Given the description of an element on the screen output the (x, y) to click on. 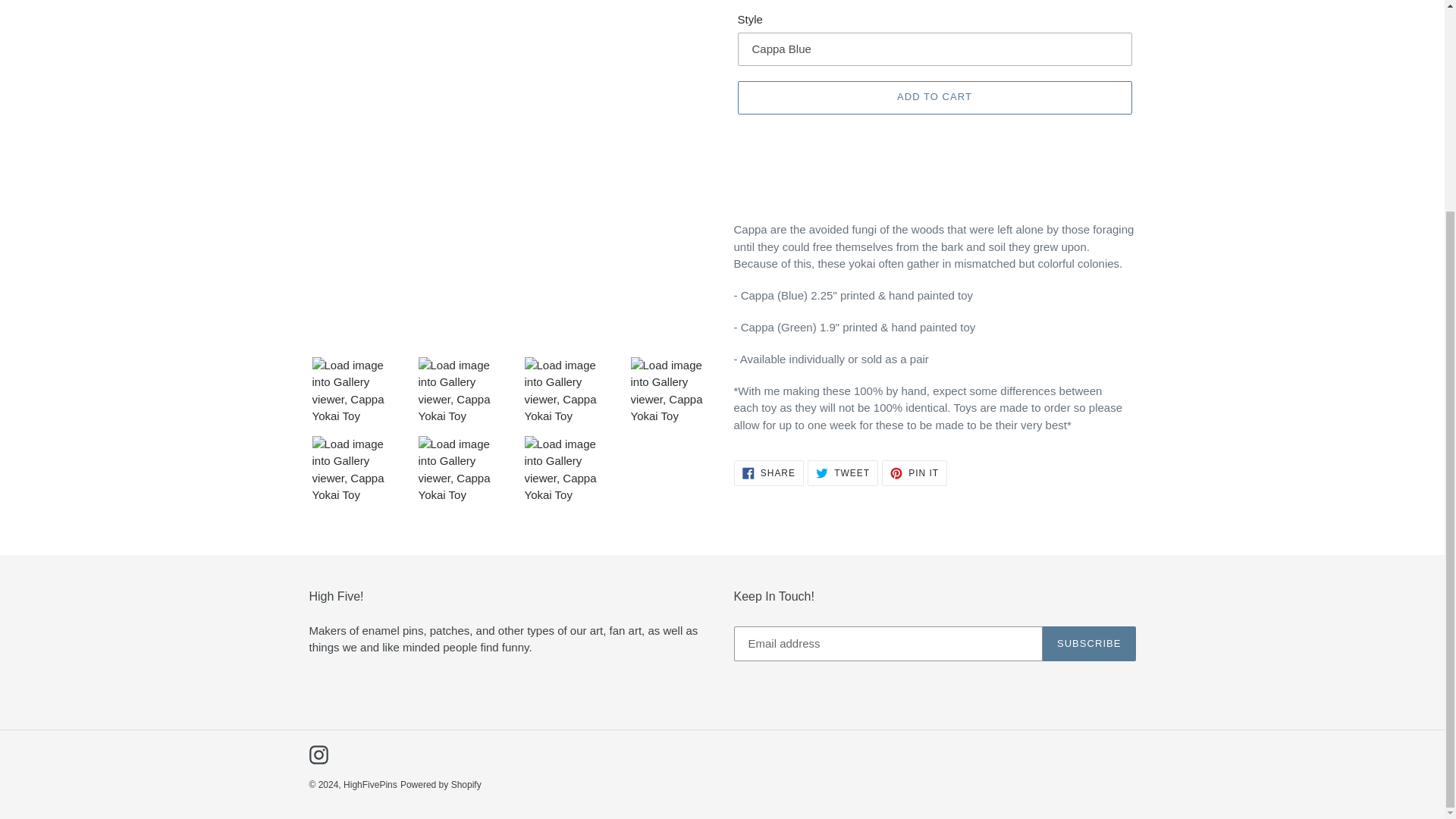
ADD TO CART (842, 473)
HighFivePins (933, 97)
SUBSCRIBE (370, 784)
Instagram (768, 473)
Powered by Shopify (914, 473)
